Given the description of an element on the screen output the (x, y) to click on. 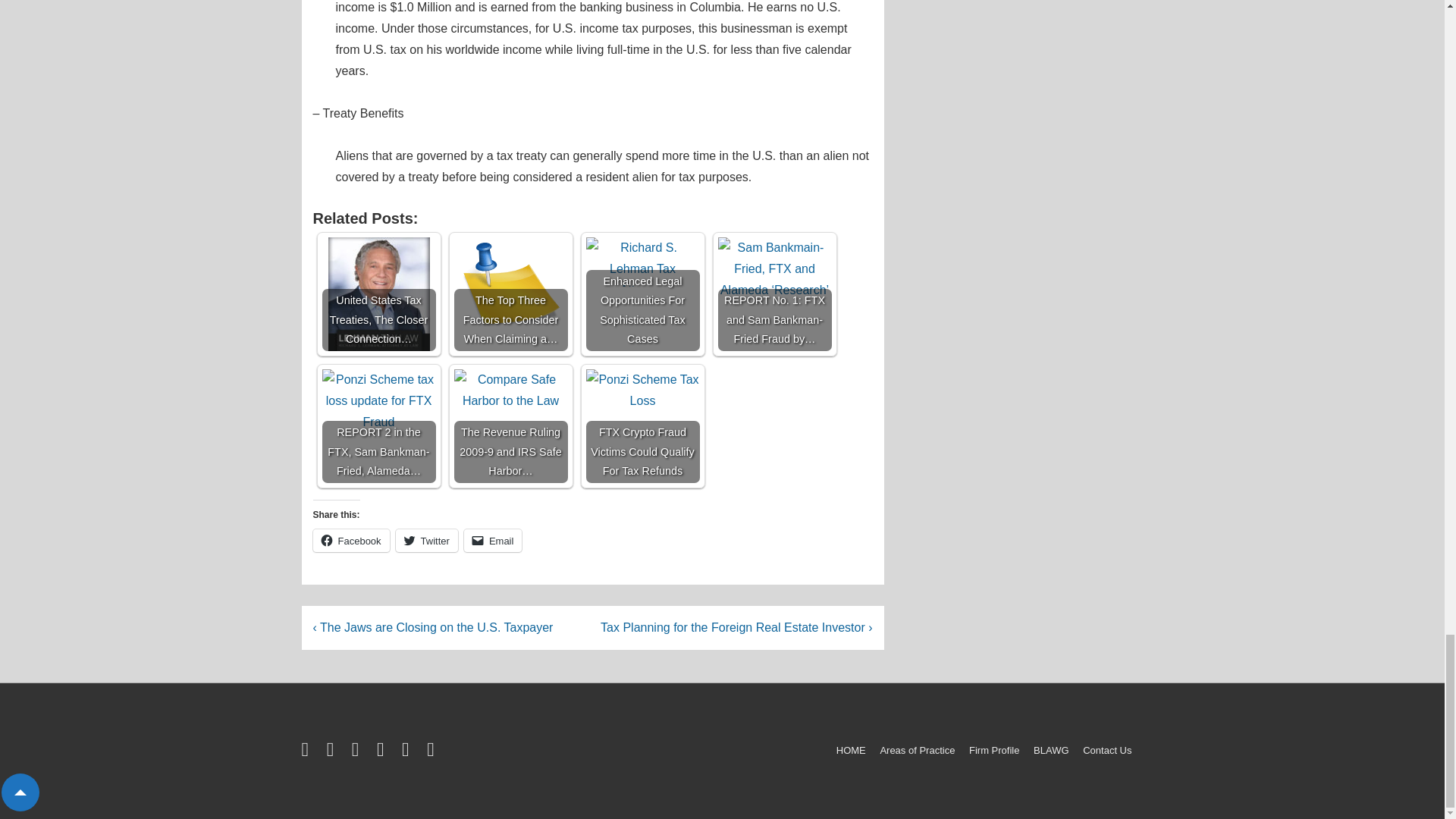
FTX Crypto Fraud Victims Could Qualify For Tax Refunds (641, 426)
Enhanced Legal Opportunities For Sophisticated Tax Cases (641, 261)
Click to share on Twitter (427, 540)
Facebook (350, 540)
Email (493, 540)
Click to share on Facebook (350, 540)
Twitter (427, 540)
Click to email a link to a friend (493, 540)
FTX Crypto Fraud Victims Could Qualify For Tax Refunds (641, 426)
Enhanced Legal Opportunities For Sophisticated Tax Cases (641, 294)
